Given the description of an element on the screen output the (x, y) to click on. 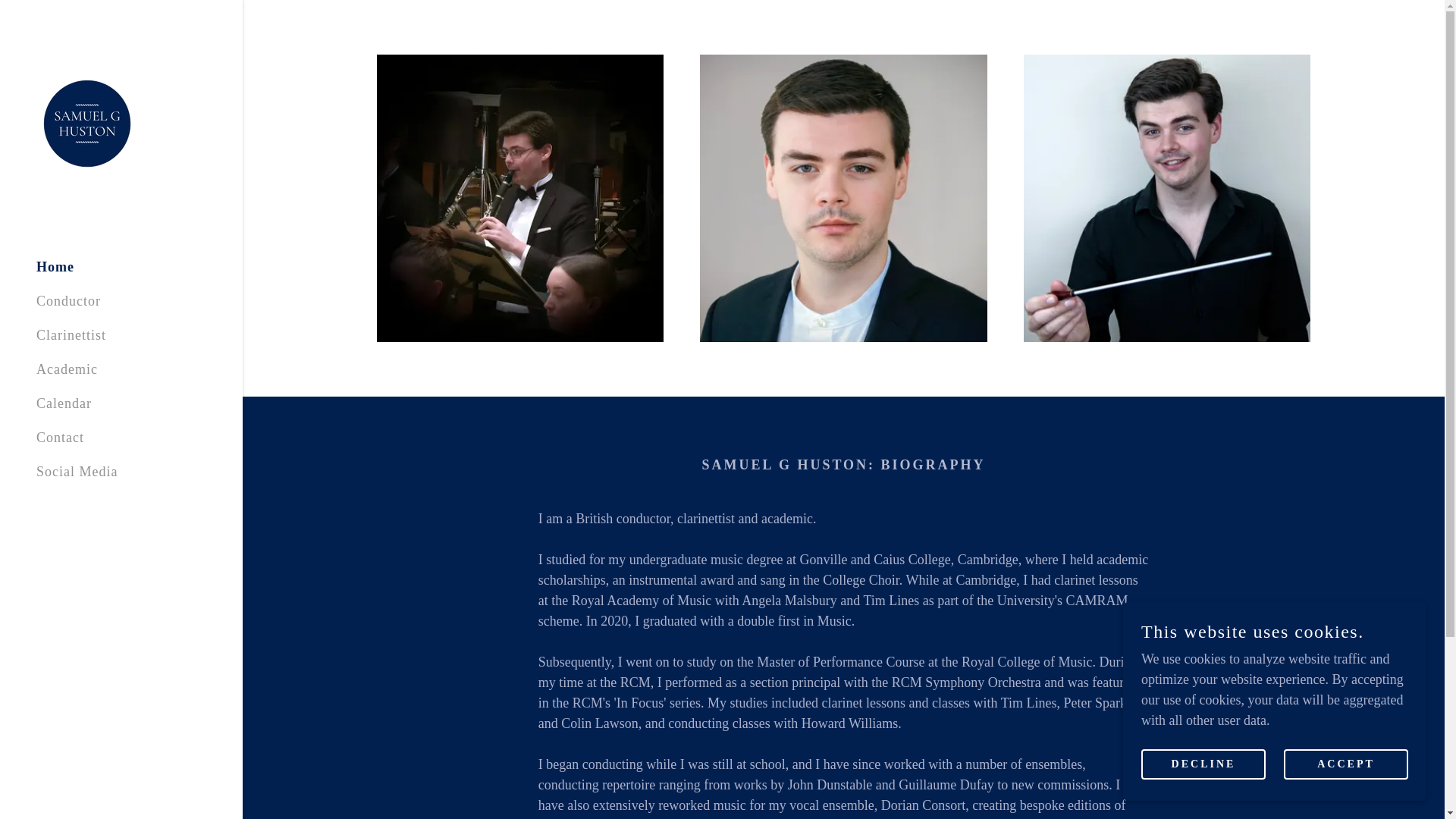
Clarinettist (71, 335)
Conductor (68, 300)
Samuel G Huston (87, 121)
Academic (66, 368)
Calendar (63, 403)
Home (55, 266)
DECLINE (1203, 764)
Social Media (76, 471)
Contact (60, 437)
ACCEPT (1345, 764)
